Given the description of an element on the screen output the (x, y) to click on. 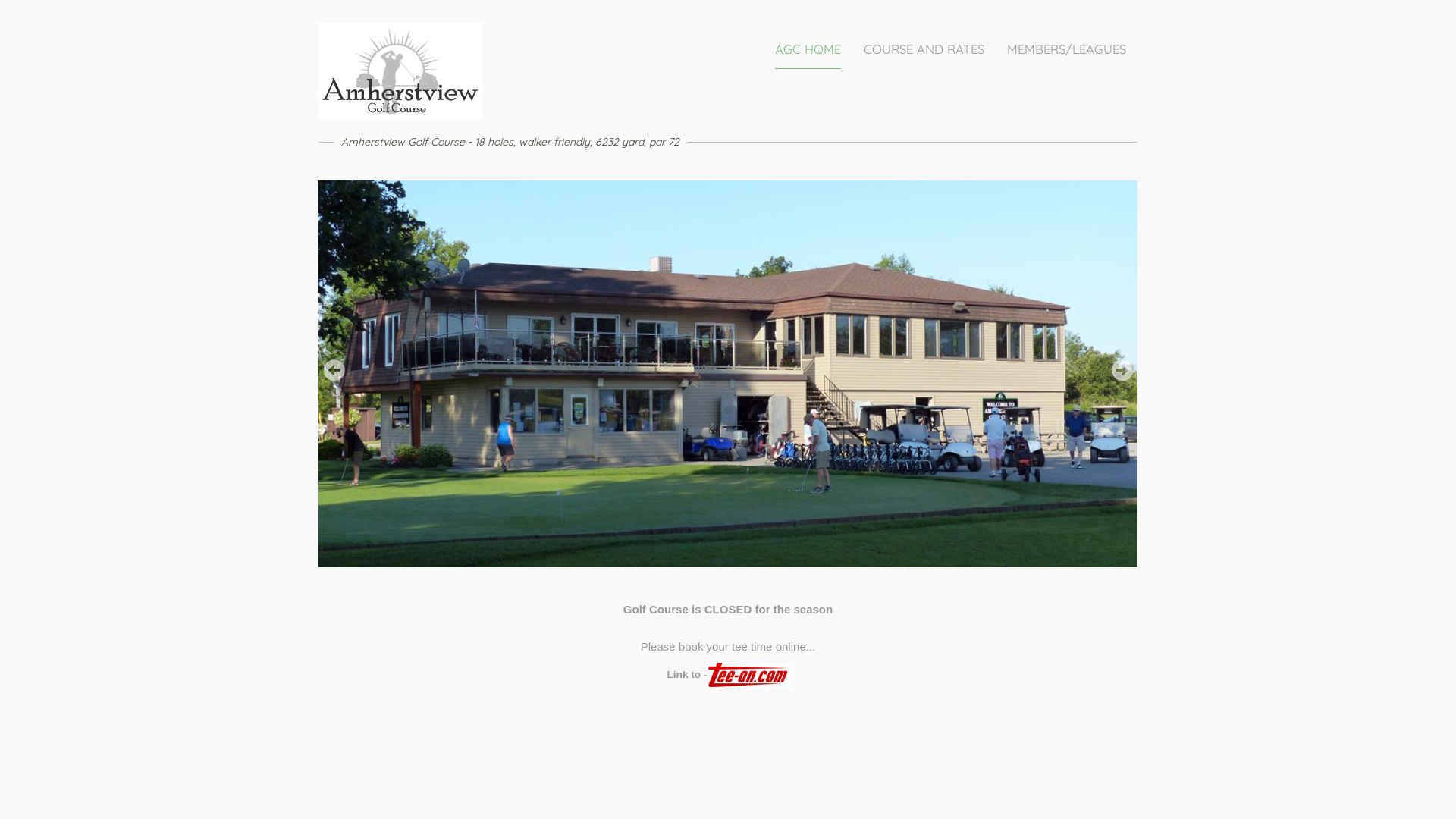
< Element type: text (333, 369)
> Element type: text (1121, 369)
AGC HOME Element type: text (807, 49)
MEMBERS/LEAGUES Element type: text (1066, 49)
COURSE AND RATES Element type: text (923, 49)
